Given the description of an element on the screen output the (x, y) to click on. 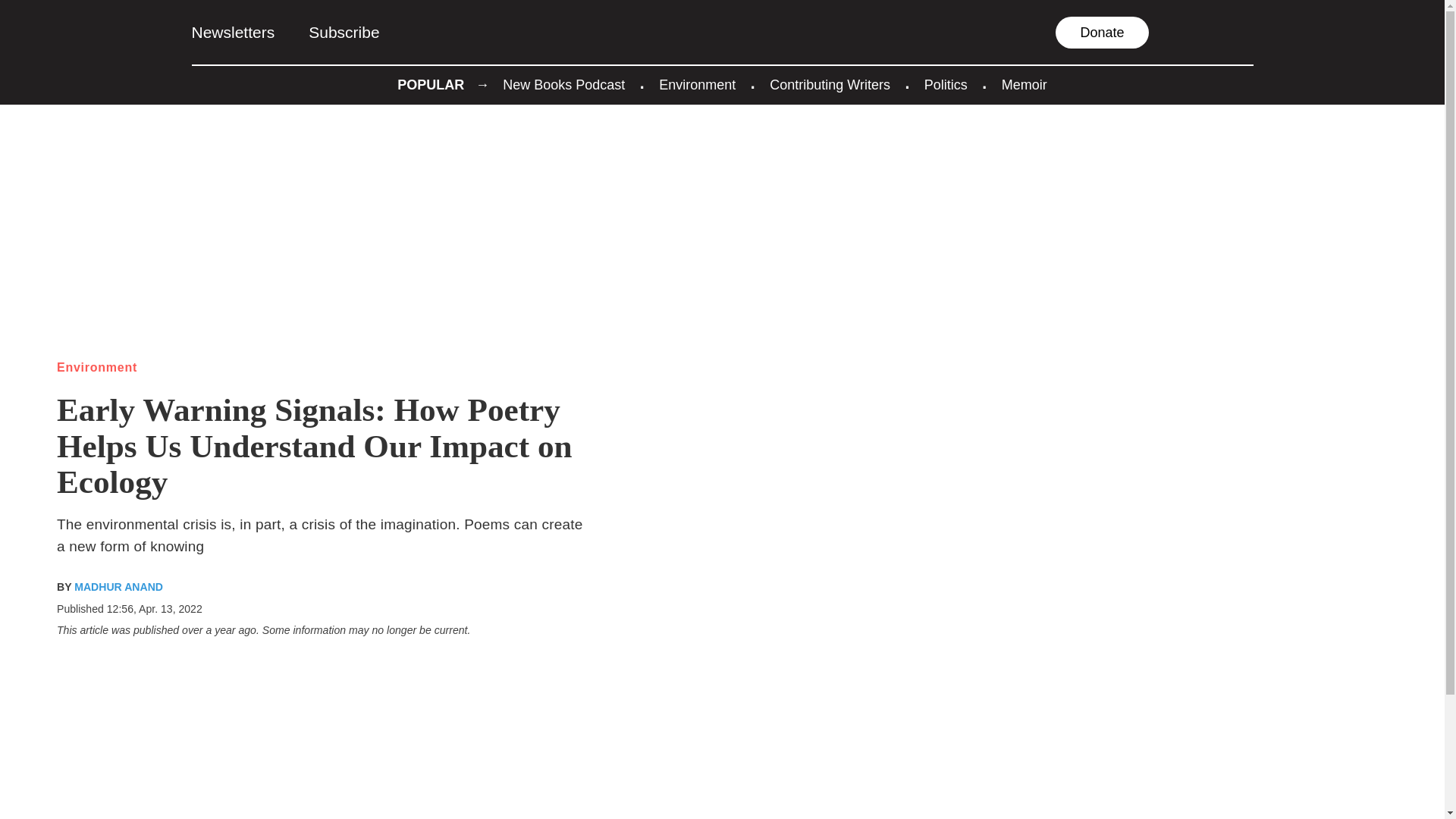
Newsletters (232, 31)
Donate (1101, 32)
Environment (697, 85)
Politics (946, 85)
Subscribe (343, 31)
Posts by Madhur Anand (118, 585)
Contributing Writers (829, 85)
New Books Podcast (563, 85)
